Given the description of an element on the screen output the (x, y) to click on. 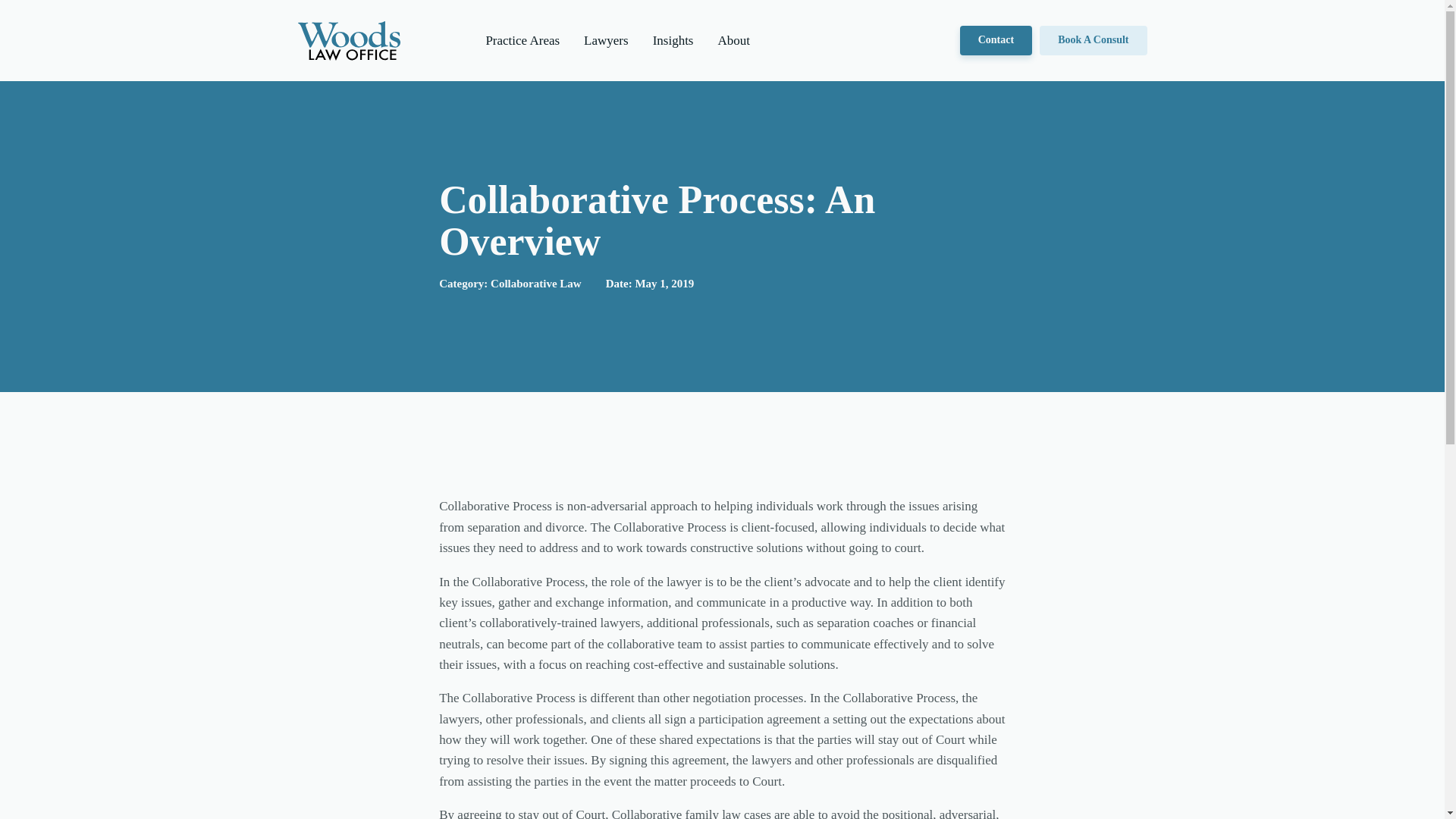
Contact (995, 40)
About (733, 40)
Book A Consult (1093, 40)
Practice Areas (521, 40)
Lawyers (605, 40)
Insights (673, 40)
